Given the description of an element on the screen output the (x, y) to click on. 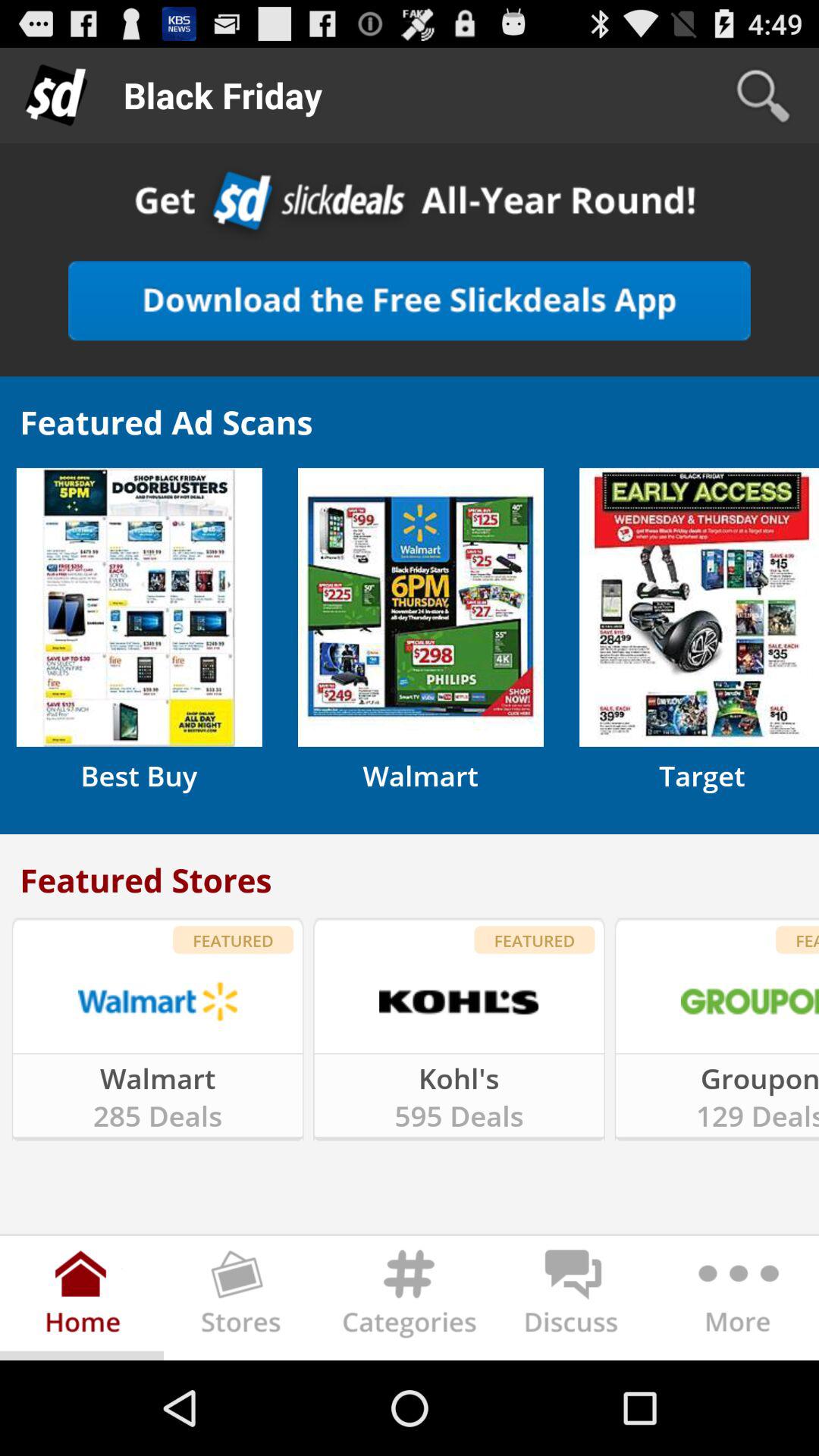
select more at the bottom of the page (736, 1300)
click on wallmart which is below featured stores (157, 1001)
move to text which is above the text download the free slickdeals app (409, 204)
